Given the description of an element on the screen output the (x, y) to click on. 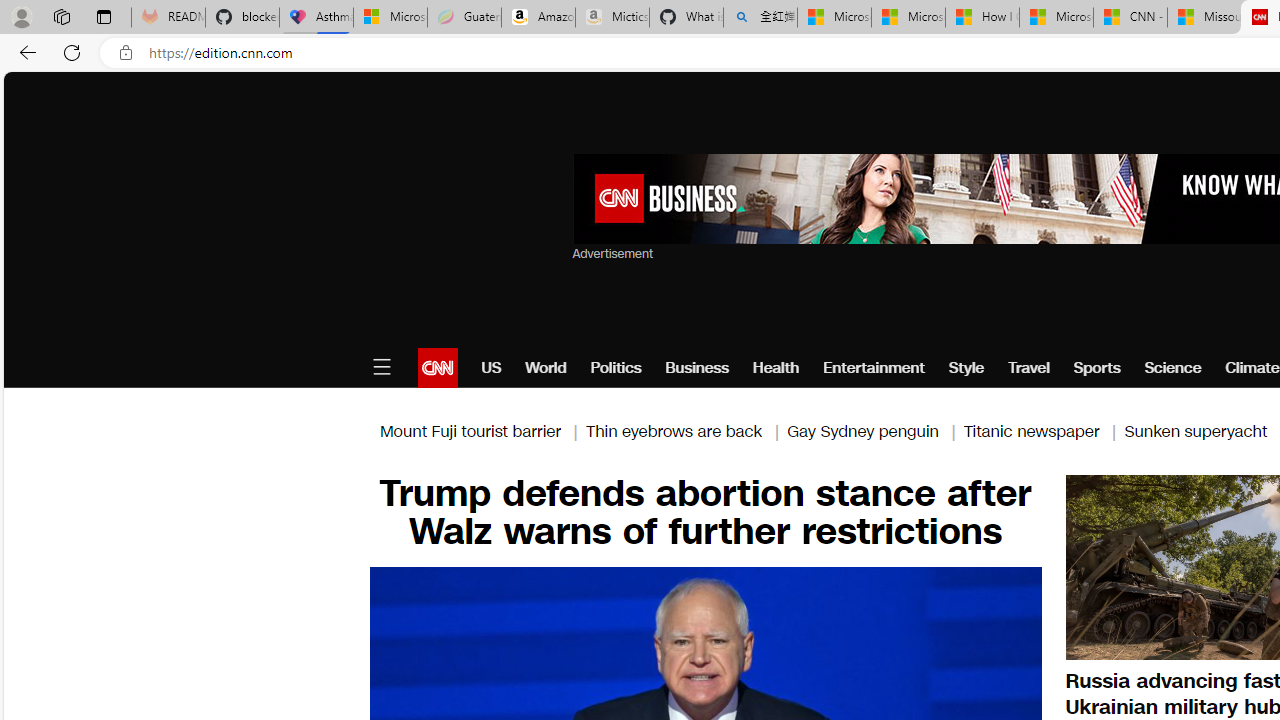
Health (776, 367)
CNN logo (437, 367)
Titanic newspaper | (1043, 430)
Entertainment (874, 367)
Mount Fuji tourist barrier | (482, 430)
Asthma Inhalers: Names and Types (316, 17)
CNN - MSN (1130, 17)
Sports (1096, 367)
US (491, 367)
